Given the description of an element on the screen output the (x, y) to click on. 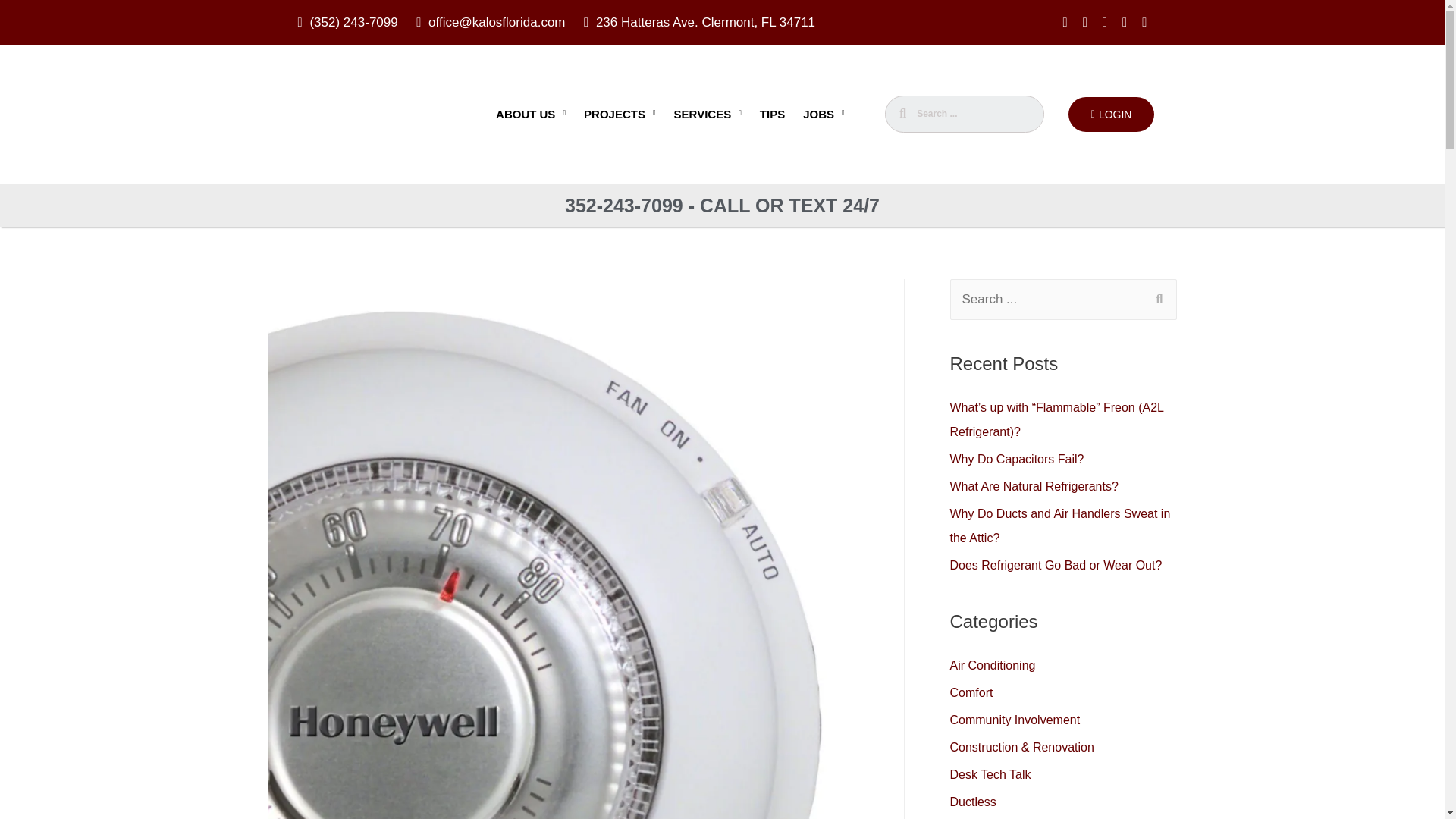
SERVICES (708, 113)
JOBS (823, 113)
ABOUT US (530, 113)
236 Hatteras Ave. Clermont, FL 34711 (699, 22)
PROJECTS (620, 113)
TIPS (772, 113)
